Given the description of an element on the screen output the (x, y) to click on. 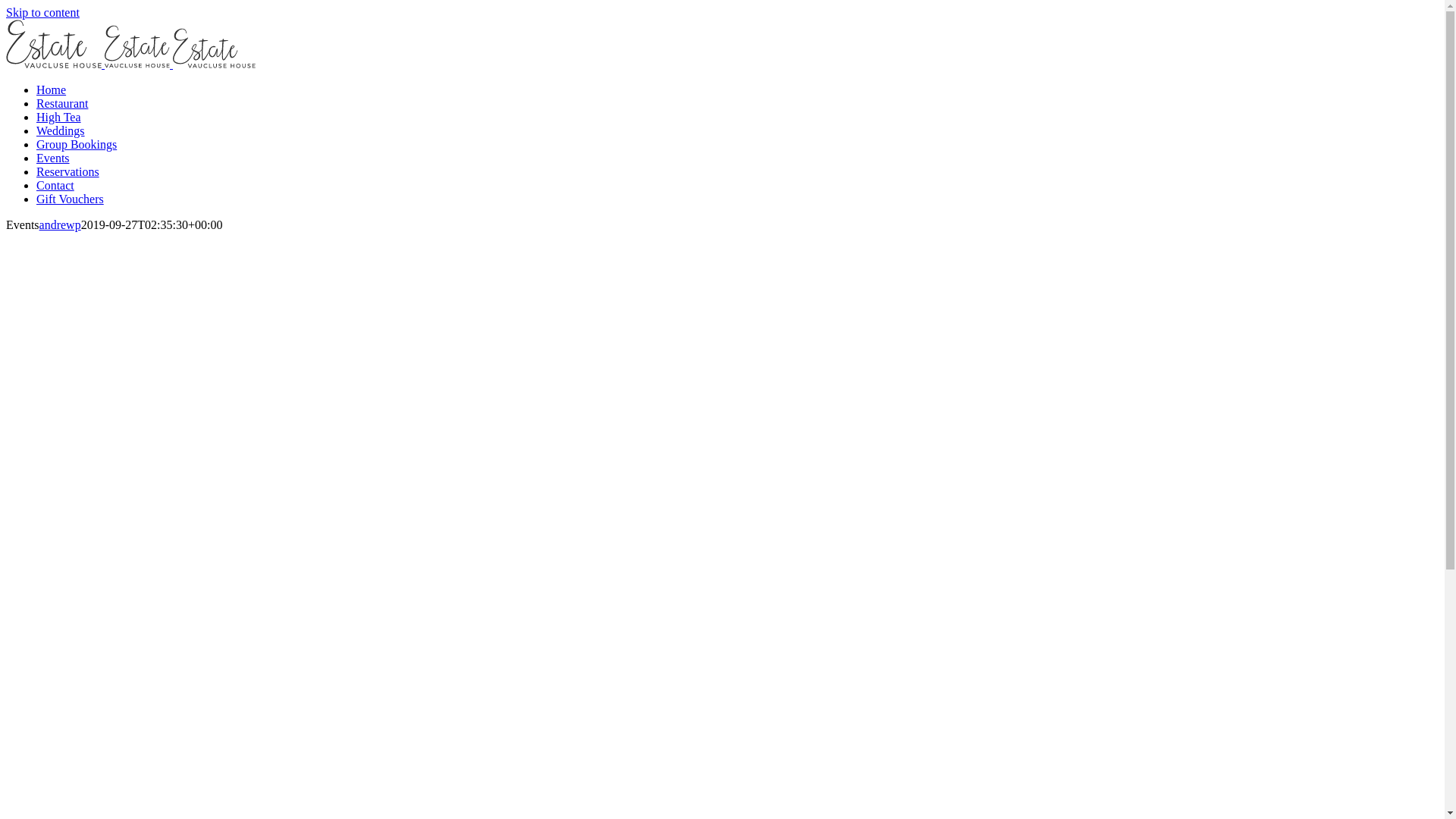
andrewp Element type: text (60, 224)
Restaurant Element type: text (61, 103)
High Tea Element type: text (58, 116)
Skip to content Element type: text (42, 12)
Home Element type: text (50, 89)
Contact Element type: text (55, 184)
Weddings Element type: text (60, 130)
Gift Vouchers Element type: text (69, 198)
Group Bookings Element type: text (76, 144)
Reservations Element type: text (67, 171)
Events Element type: text (52, 157)
